Given the description of an element on the screen output the (x, y) to click on. 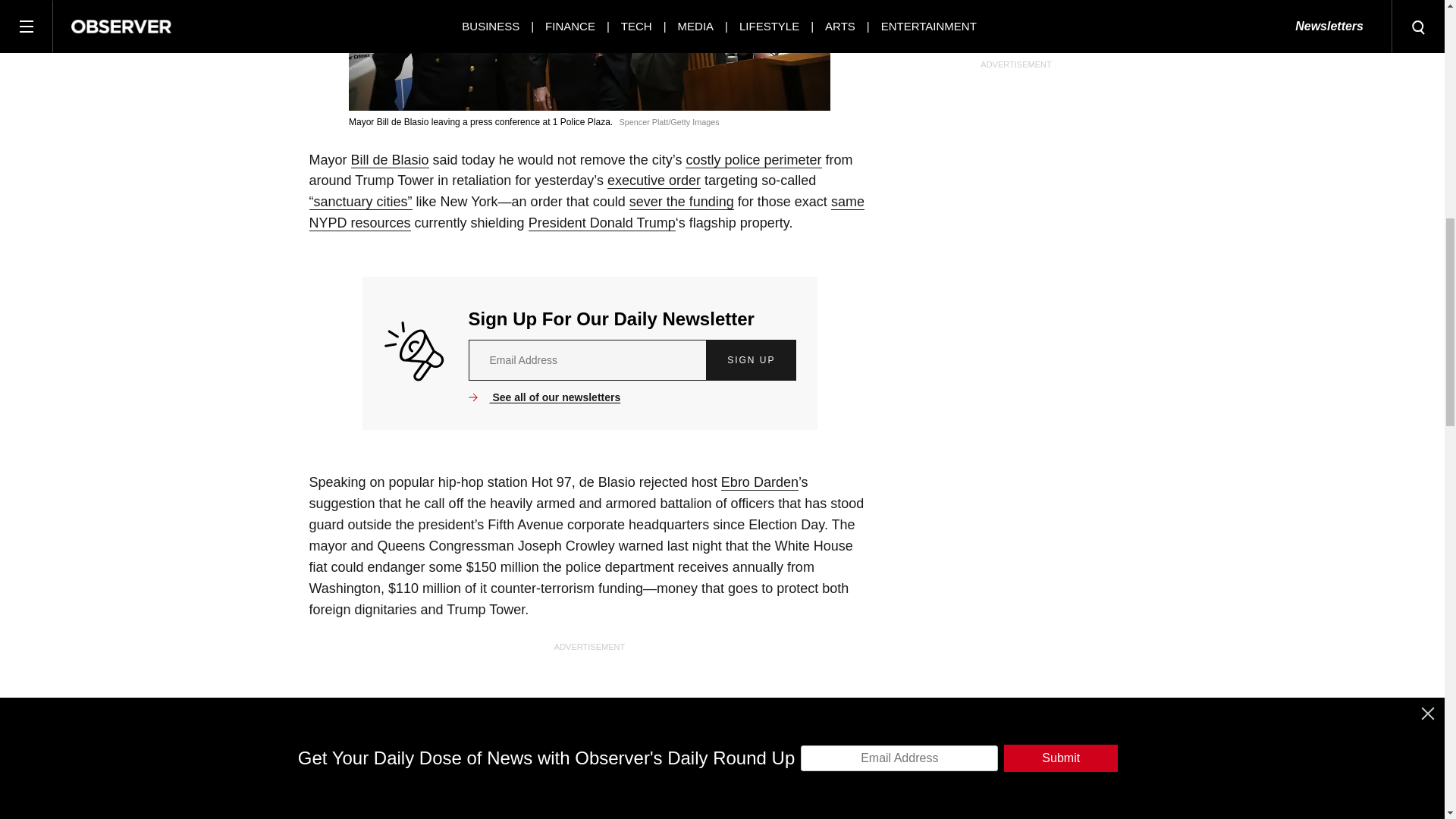
Bill de Blasio (389, 160)
Ebro Darden (758, 482)
